Given the description of an element on the screen output the (x, y) to click on. 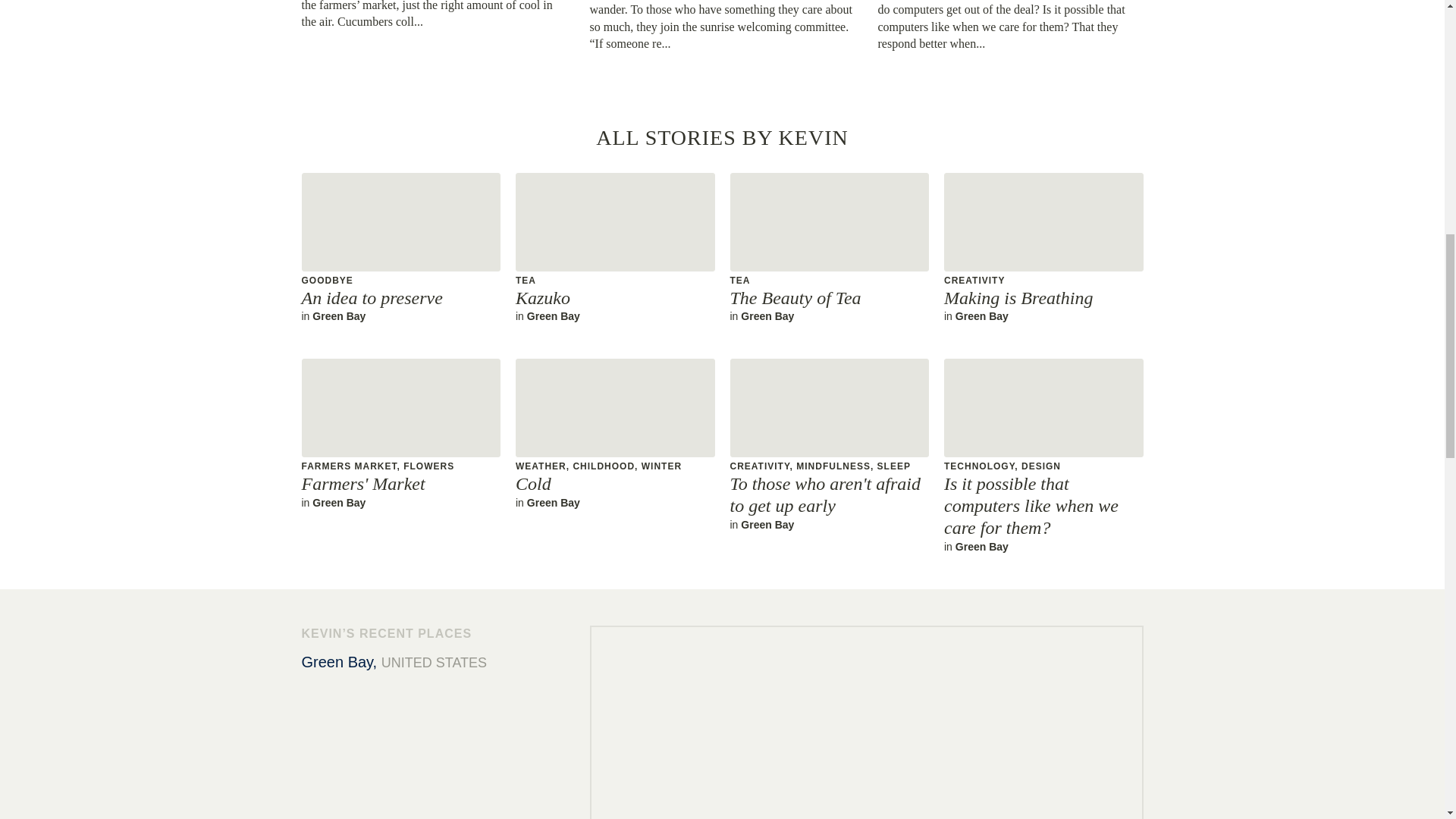
Green Bay, UNITED STATES (828, 247)
